Given the description of an element on the screen output the (x, y) to click on. 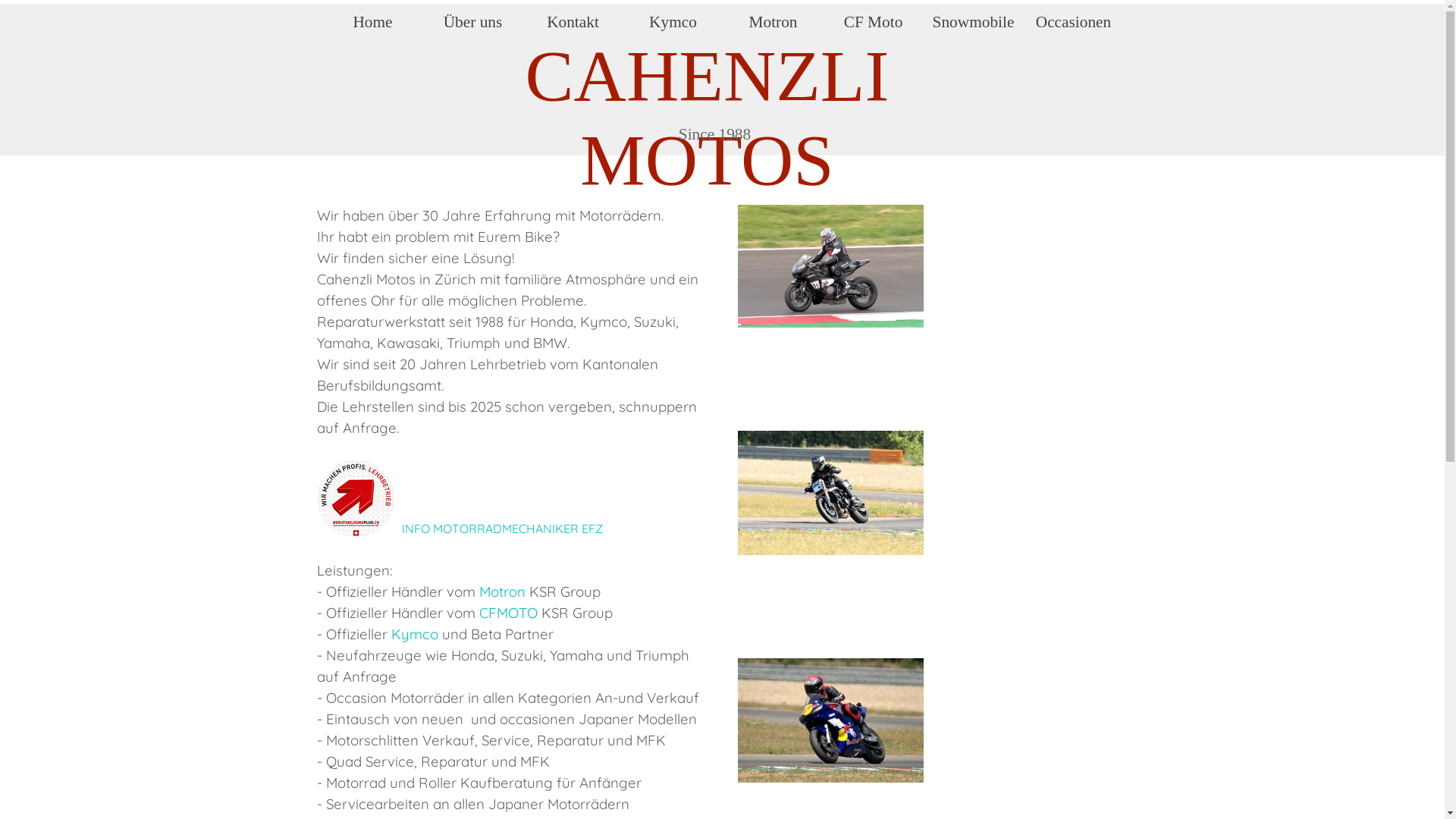
Motron Element type: text (773, 21)
CF Moto Element type: text (873, 21)
Kontakt Element type: text (572, 21)
INFO MOTORRADMECHANIKER EFZ Element type: text (501, 528)
Kymco Element type: text (672, 21)
Home Element type: text (372, 21)
CFMOTO Element type: text (508, 612)
Occasionen Element type: text (1073, 21)
Kymco Element type: text (414, 633)
Snowmobile Element type: text (973, 21)
Motron Element type: text (502, 591)
